Given the description of an element on the screen output the (x, y) to click on. 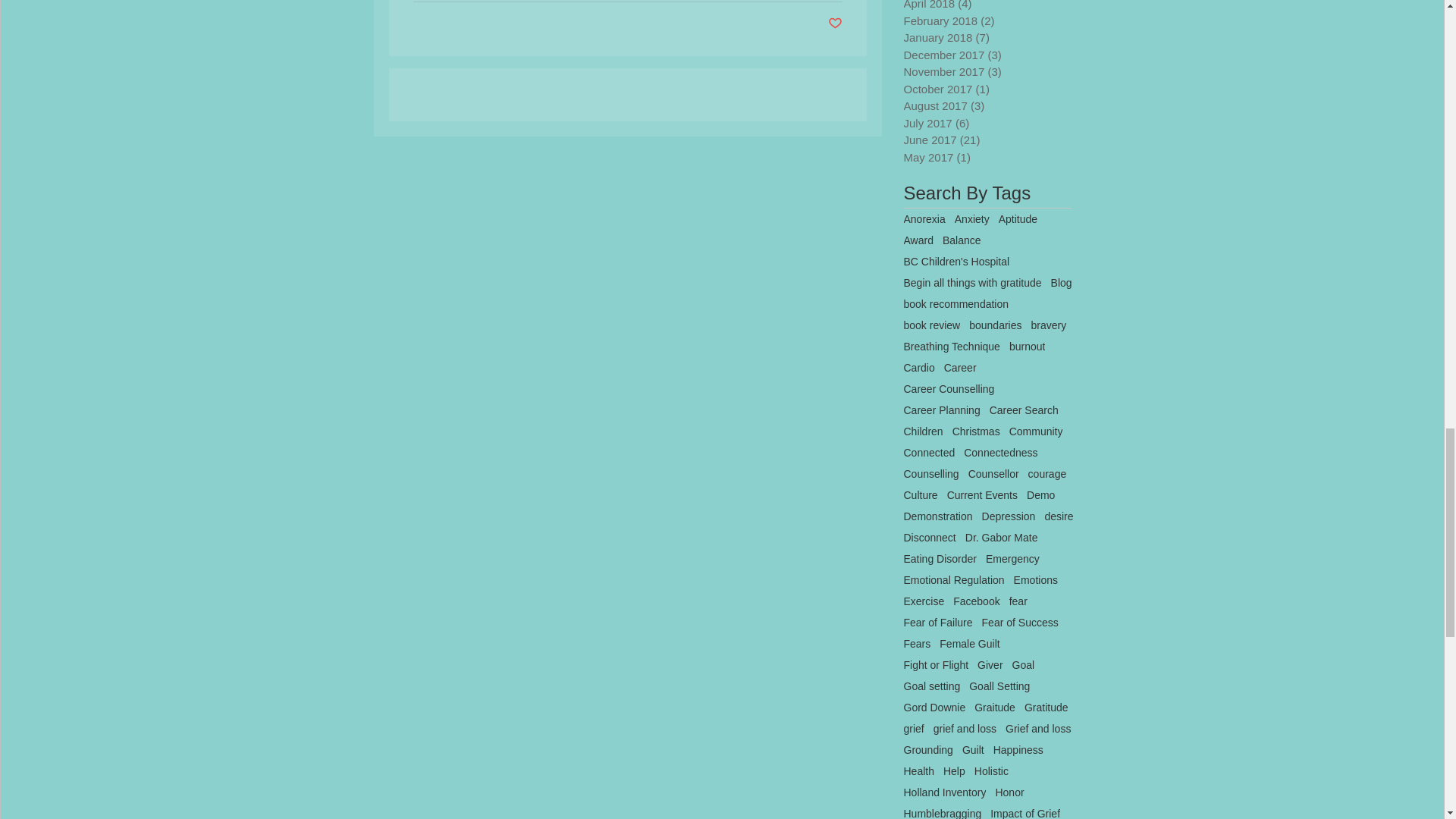
Post not marked as liked (835, 23)
